Given the description of an element on the screen output the (x, y) to click on. 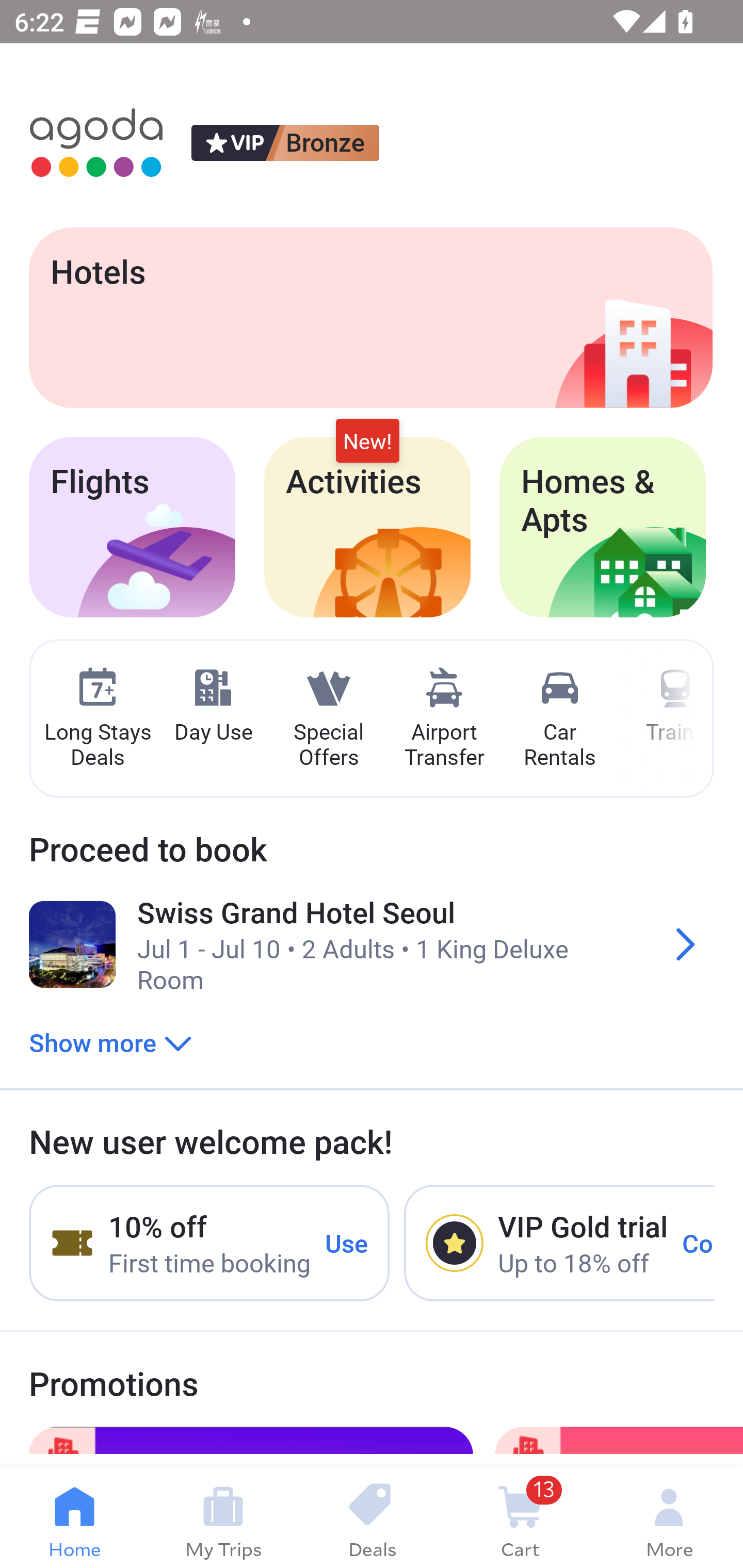
Hotels (370, 317)
New! (367, 441)
Flights (131, 527)
Activities (367, 527)
Homes & Apts (602, 527)
Day Use (213, 706)
Long Stays Deals (97, 718)
Special Offers (328, 718)
Airport Transfer (444, 718)
Car Rentals (559, 718)
Show more (110, 1041)
Use (346, 1242)
Home (74, 1518)
My Trips (222, 1518)
Deals (371, 1518)
13 Cart (519, 1518)
More (668, 1518)
